Given the description of an element on the screen output the (x, y) to click on. 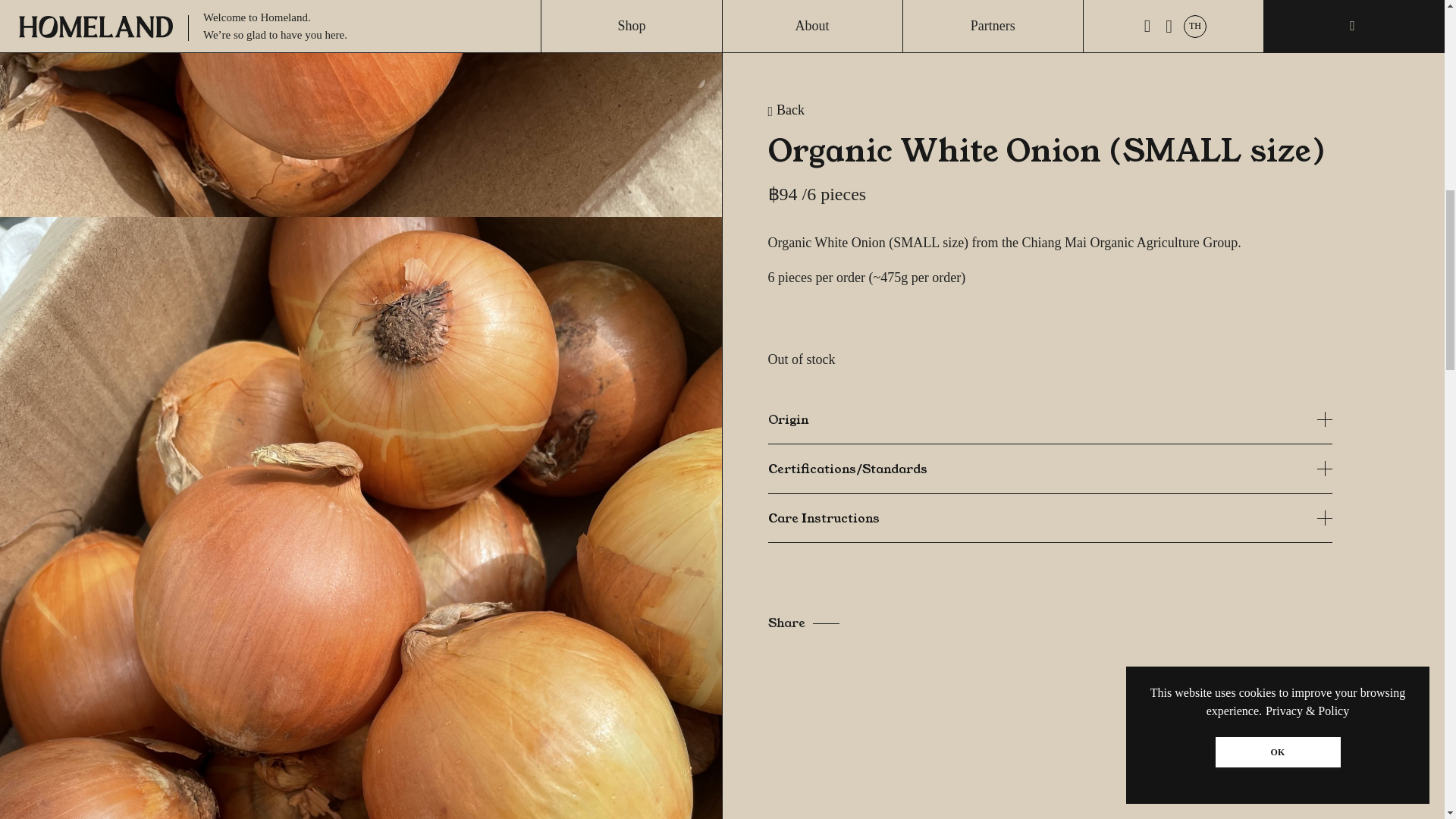
OK (1276, 79)
